Given the description of an element on the screen output the (x, y) to click on. 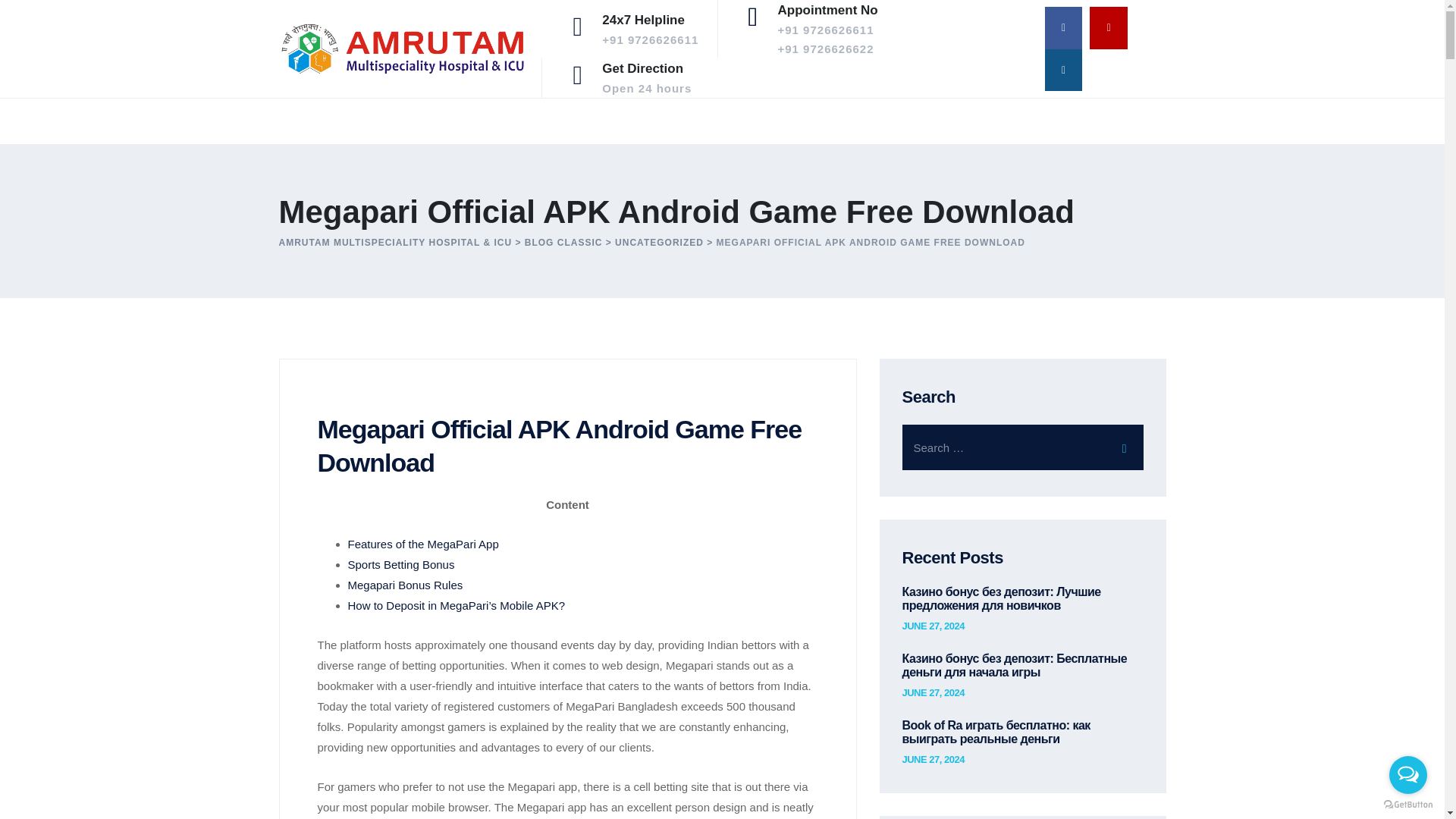
UNCATEGORIZED (658, 242)
JUNE 27, 2024 (932, 759)
JUNE 27, 2024 (646, 77)
Sports Betting Bonus (932, 626)
BLOG CLASSIC (400, 563)
Megapari Bonus Rules (563, 242)
JUNE 27, 2024 (405, 584)
Go to the Uncategorized Category archives. (932, 693)
Features of the MegaPari App (658, 242)
